Given the description of an element on the screen output the (x, y) to click on. 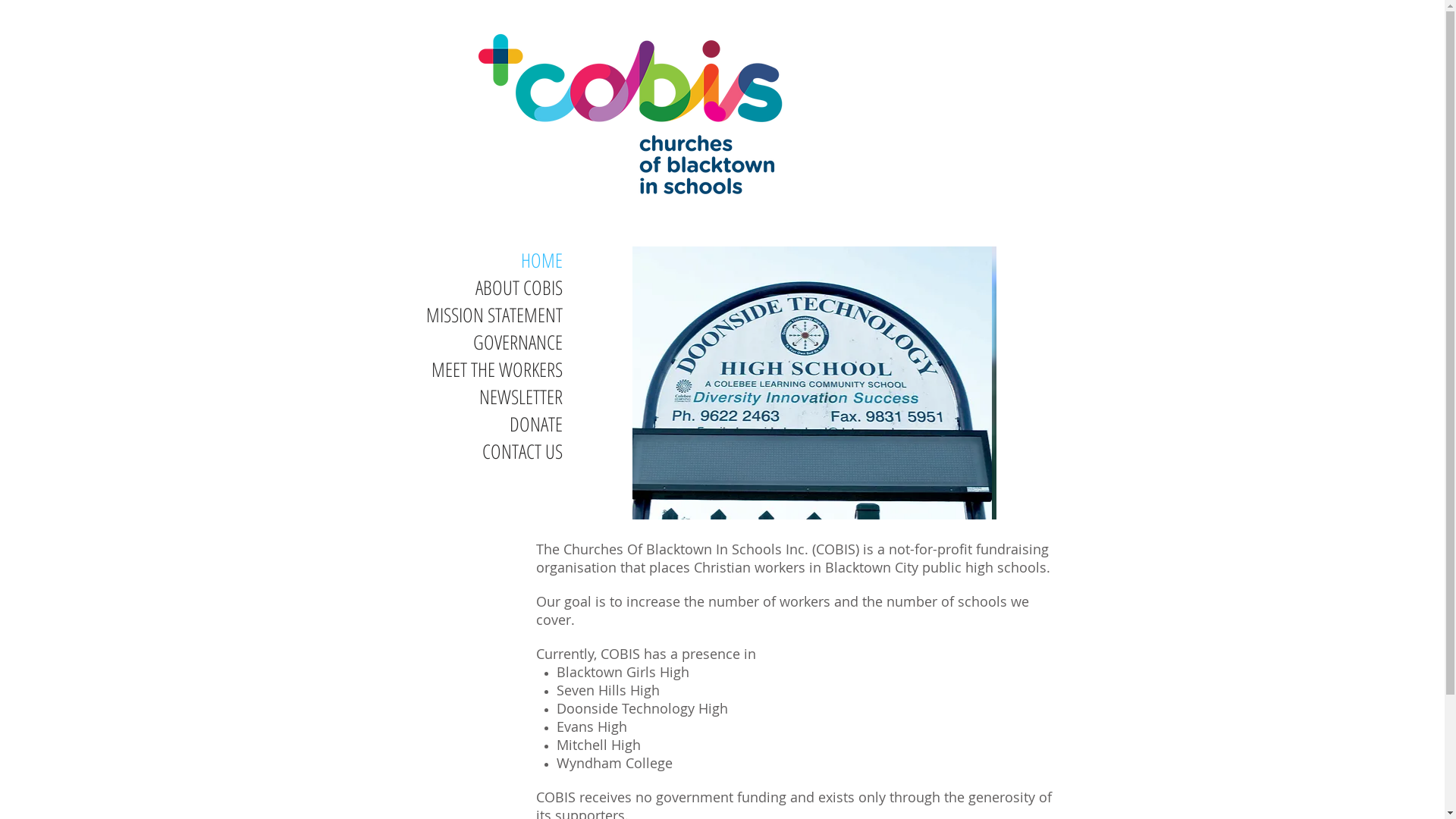
ABOUT COBIS Element type: text (458, 287)
MEET THE WORKERS Element type: text (458, 368)
HOME Element type: text (458, 259)
CONTACT US Element type: text (458, 450)
NEWSLETTER Element type: text (458, 396)
DONATE Element type: text (458, 423)
GOVERNANCE Element type: text (458, 341)
LOGO Header.png Element type: hover (634, 112)
MISSION STATEMENT Element type: text (458, 314)
